Given the description of an element on the screen output the (x, y) to click on. 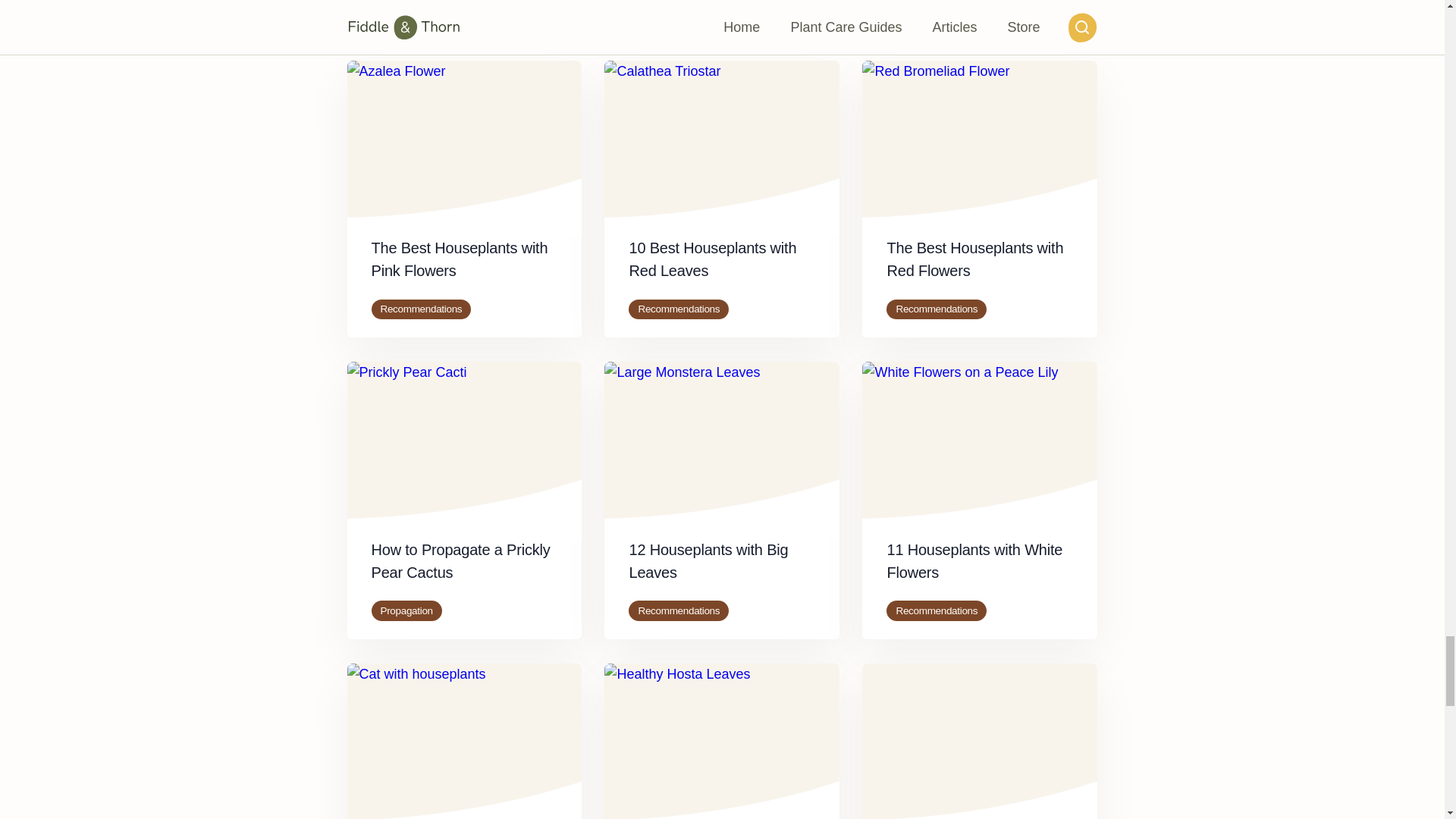
Recommendations (421, 309)
Recommendations (678, 309)
The Best Houseplants with Pink Flowers (459, 259)
10 Best Houseplants with Red Leaves (712, 259)
